Given the description of an element on the screen output the (x, y) to click on. 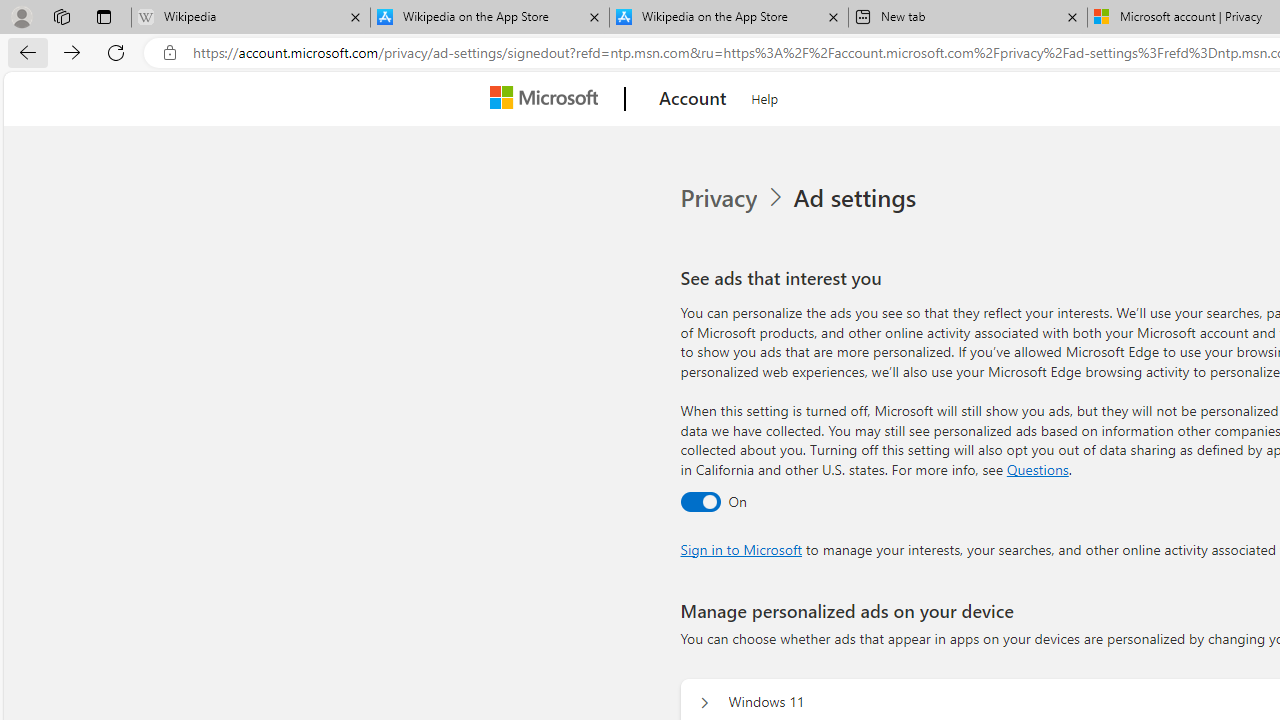
Go to Questions section (1037, 468)
Microsoft (548, 99)
Personal Profile (21, 16)
Help (765, 96)
View site information (169, 53)
Close tab (1072, 16)
Refresh (115, 52)
